Given the description of an element on the screen output the (x, y) to click on. 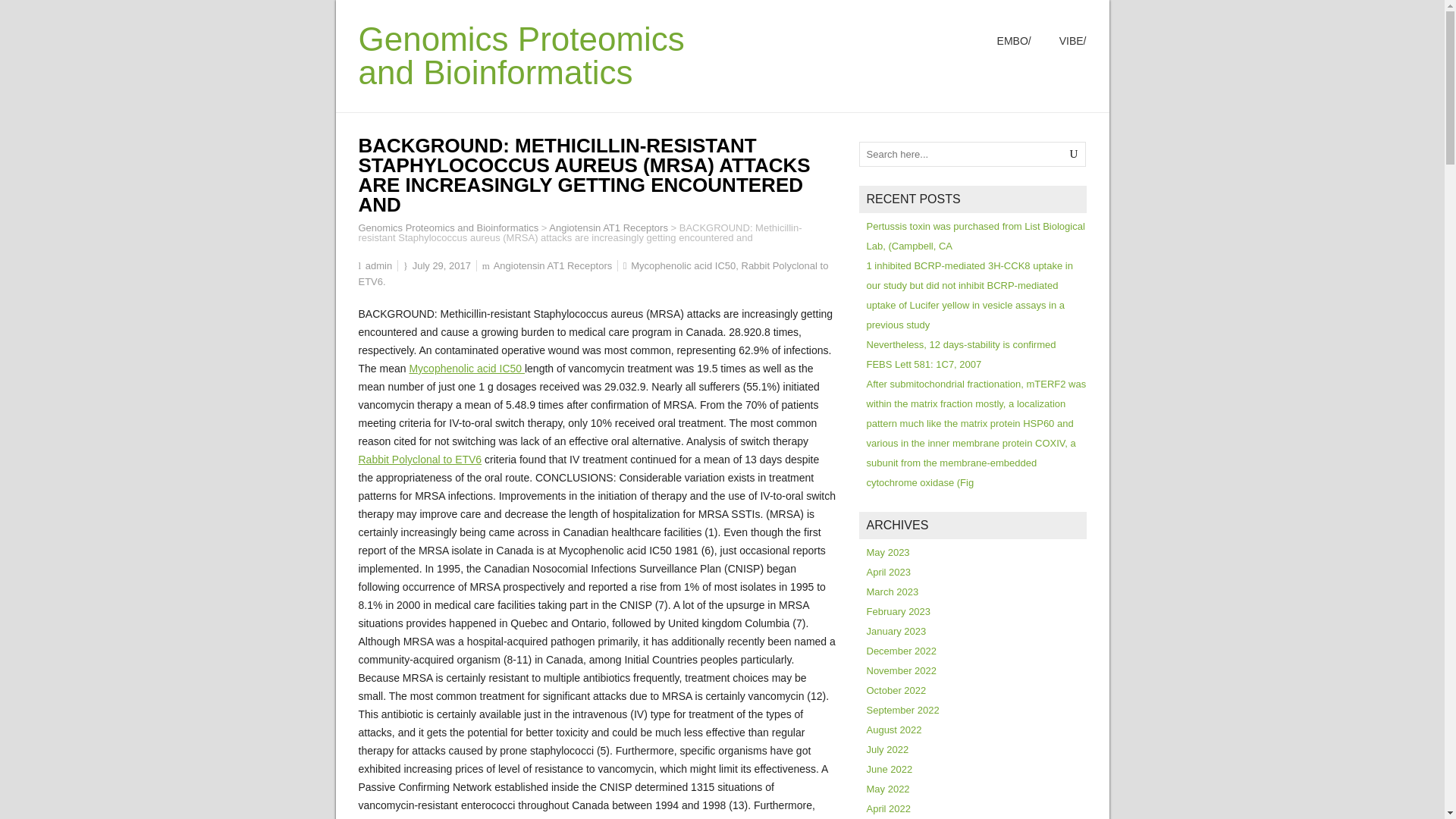
June 2022 (889, 768)
Go to the Angiotensin AT1 Receptors category archives. (608, 227)
Angiotensin AT1 Receptors (552, 265)
December 2022 (901, 650)
Genomics Proteomics and Bioinformatics (521, 55)
U (1073, 154)
November 2022 (901, 670)
Mycophenolic acid IC50 (466, 368)
July 2022 (887, 749)
March 2023 (892, 591)
Posts by admin (378, 265)
April 2023 (888, 572)
April 2022 (888, 808)
Angiotensin AT1 Receptors (608, 227)
